Given the description of an element on the screen output the (x, y) to click on. 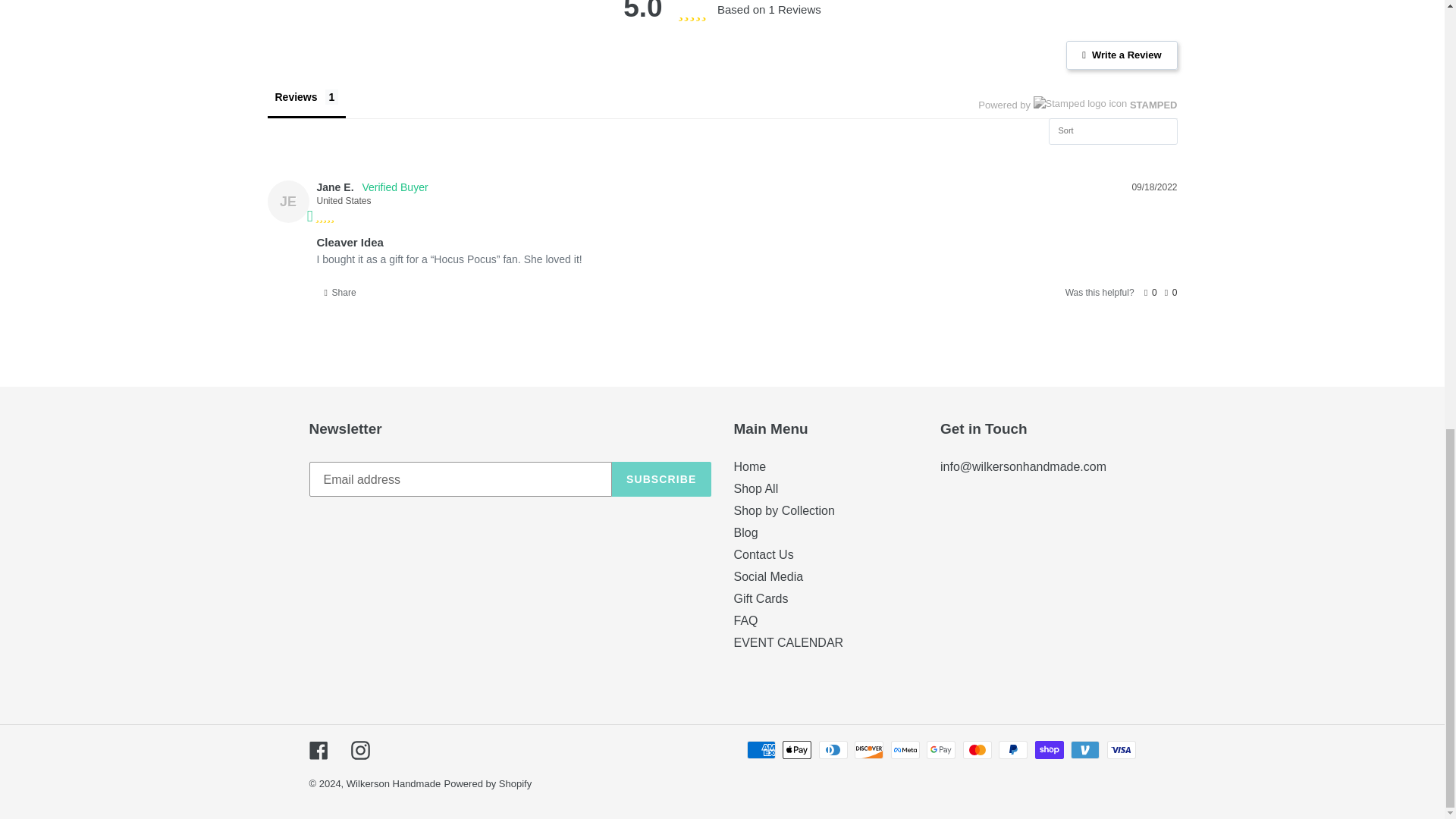
Powered by STAMPED (1077, 104)
